Given the description of an element on the screen output the (x, y) to click on. 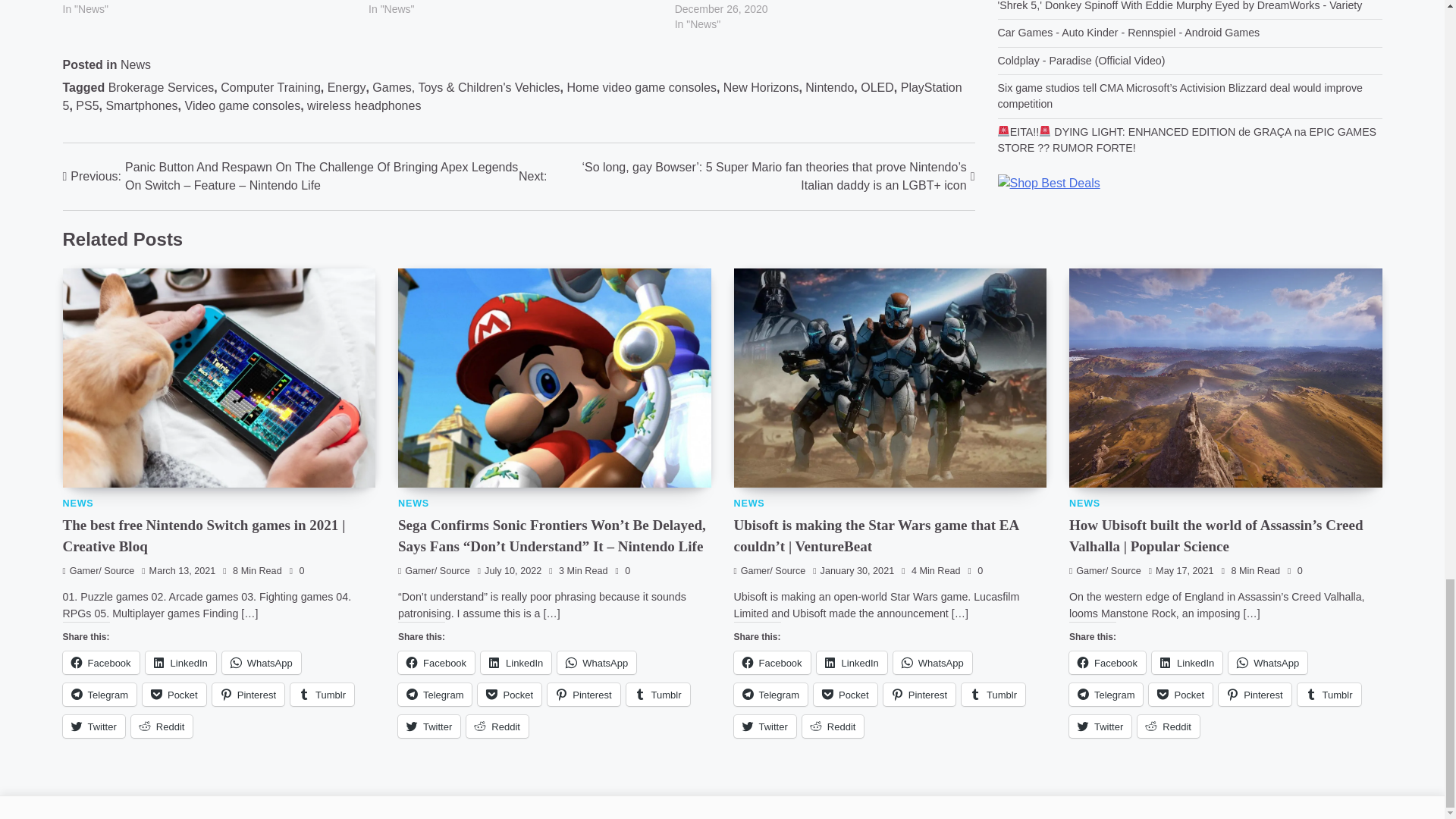
News (135, 64)
